Given the description of an element on the screen output the (x, y) to click on. 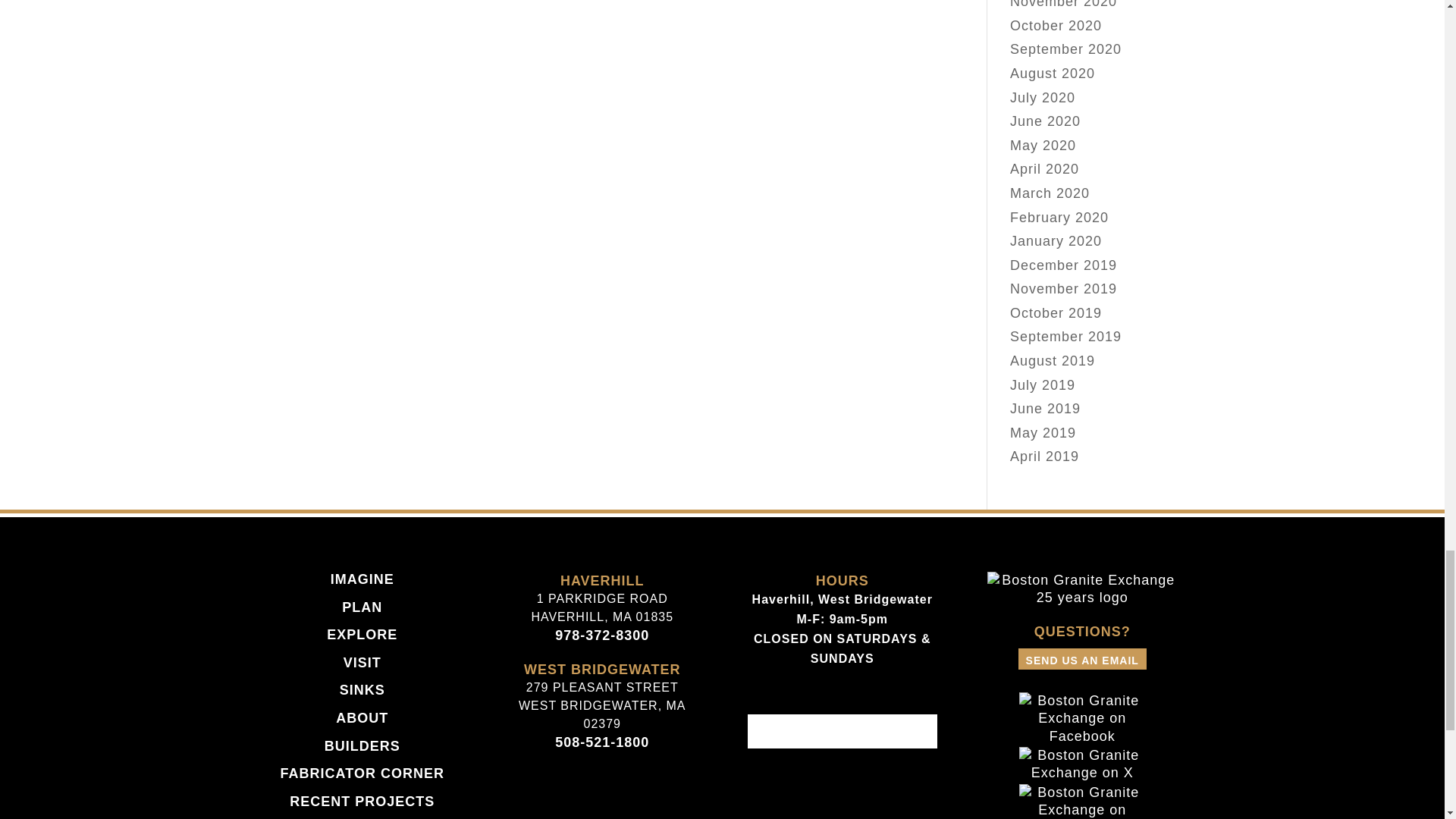
Boston Granite Exchange on Twitter (1082, 772)
Boston Granite Exchange on Facebook (1082, 735)
